Given the description of an element on the screen output the (x, y) to click on. 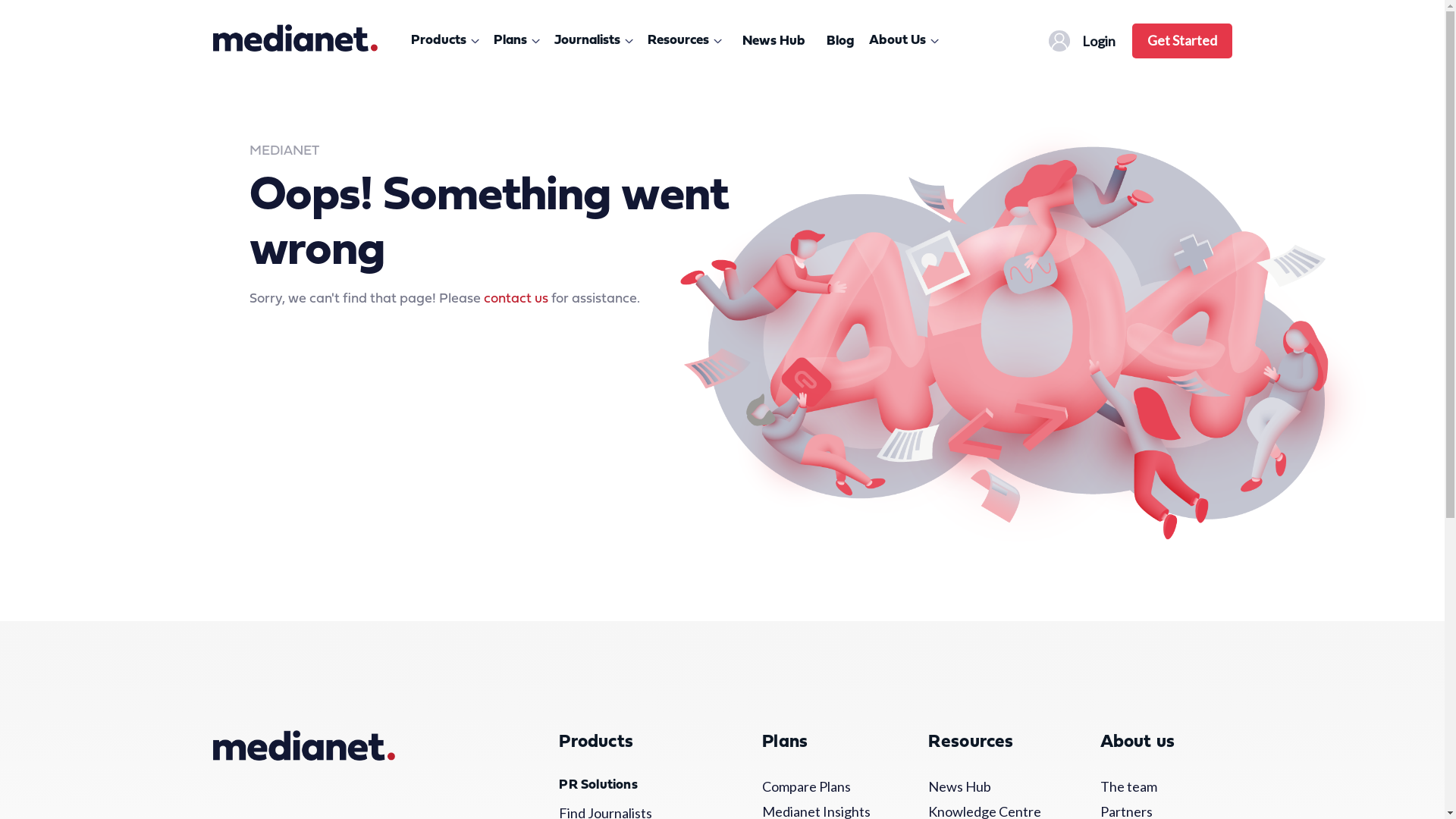
The team Element type: text (1155, 786)
Medianet logo RGB 2020 Element type: hover (303, 745)
Get Started Element type: text (1181, 39)
nav-profile-icon Element type: hover (1058, 40)
News Hub Element type: text (986, 786)
medianet-404 Element type: hover (1028, 339)
Blog Element type: text (839, 41)
Journalists Element type: text (596, 40)
contact us Element type: text (515, 298)
Compare Plans Element type: text (817, 786)
Products Element type: text (447, 40)
Resources Element type: text (687, 40)
Login Element type: text (1083, 40)
Medianet logo RGB 2020 Element type: hover (294, 37)
Plans Element type: text (519, 40)
News Hub Element type: text (773, 41)
About Us Element type: text (906, 40)
